Given the description of an element on the screen output the (x, y) to click on. 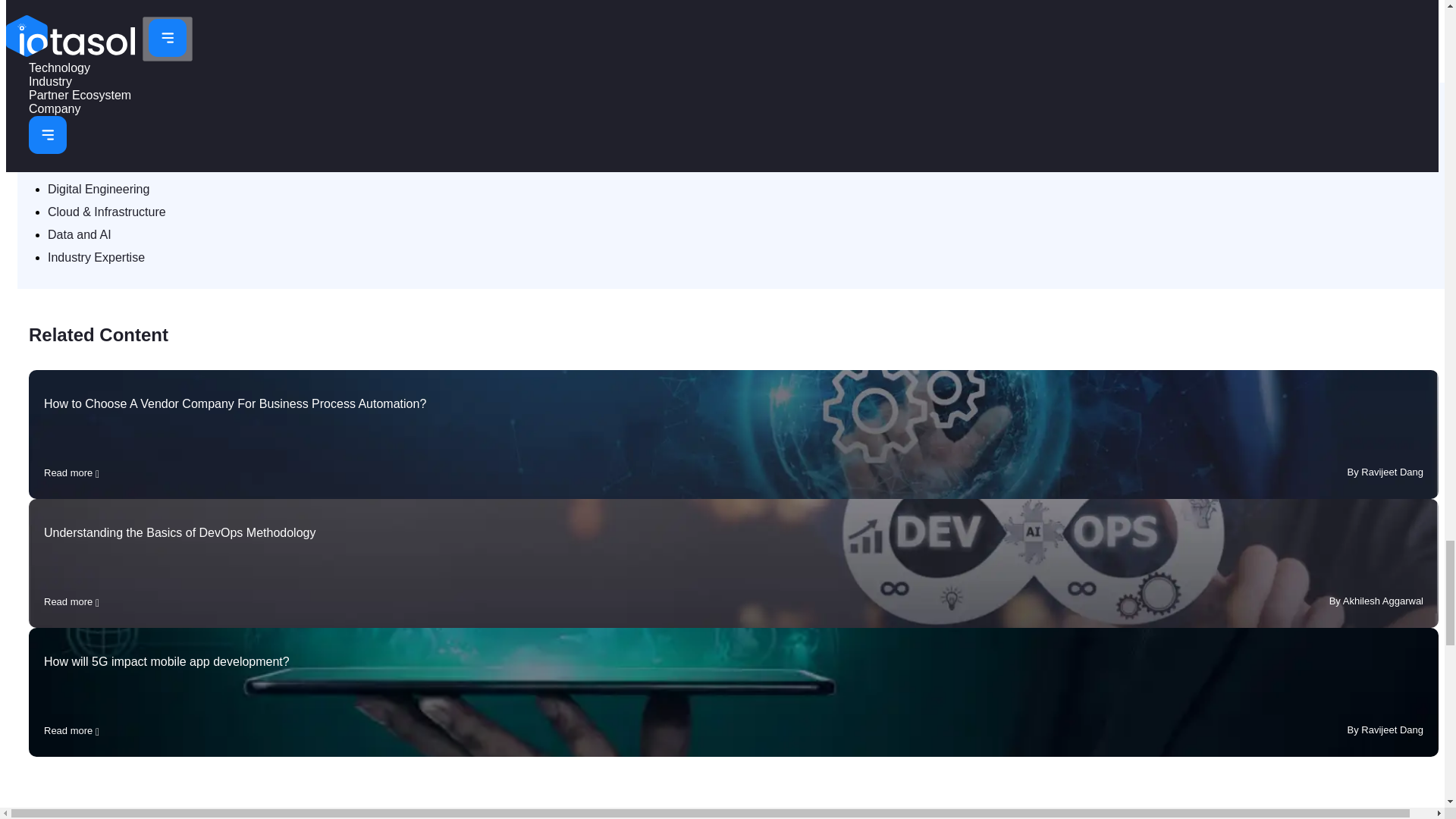
Industry Expertise (96, 256)
Industry Experts (180, 62)
Digital Engineering (98, 188)
Data and AI (80, 234)
